Given the description of an element on the screen output the (x, y) to click on. 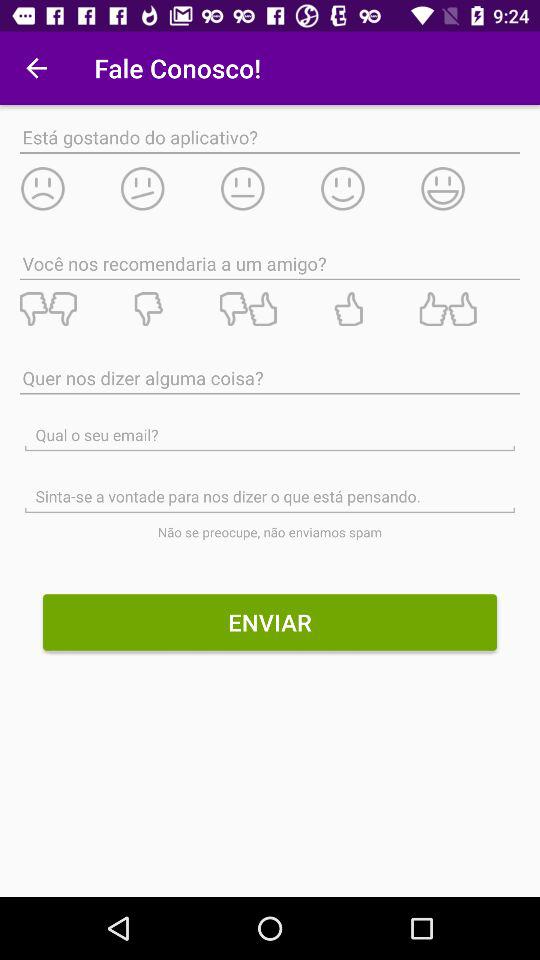
feel (169, 188)
